Given the description of an element on the screen output the (x, y) to click on. 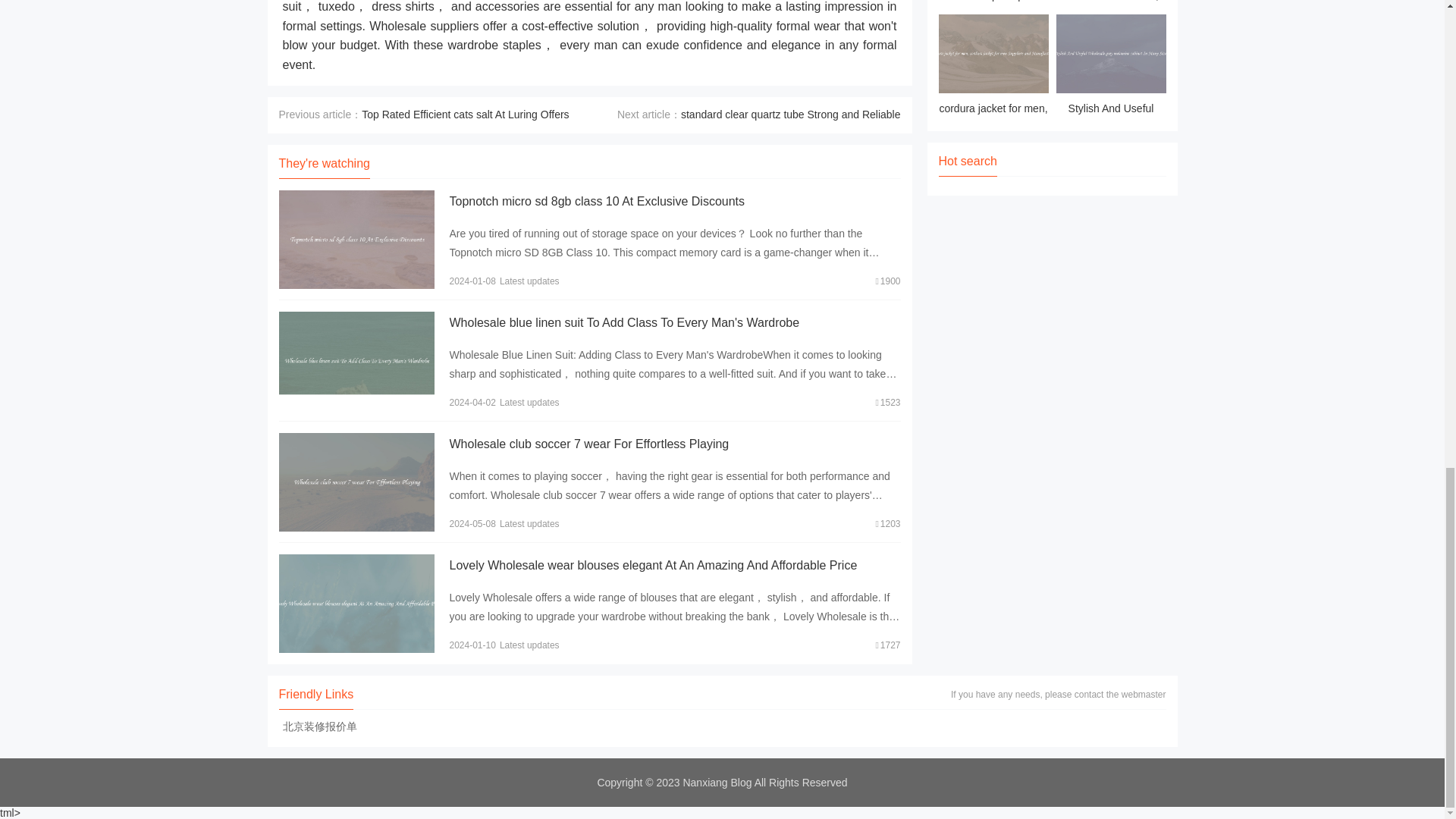
Top Rated Efficient cats salt At Luring Offers (465, 114)
Wholesale club soccer 7 wear For Effortless Playing (588, 443)
standard clear quartz tube Strong and Reliable (791, 114)
Topnotch micro sd 8gb class 10 At Exclusive Discounts (596, 201)
